Given the description of an element on the screen output the (x, y) to click on. 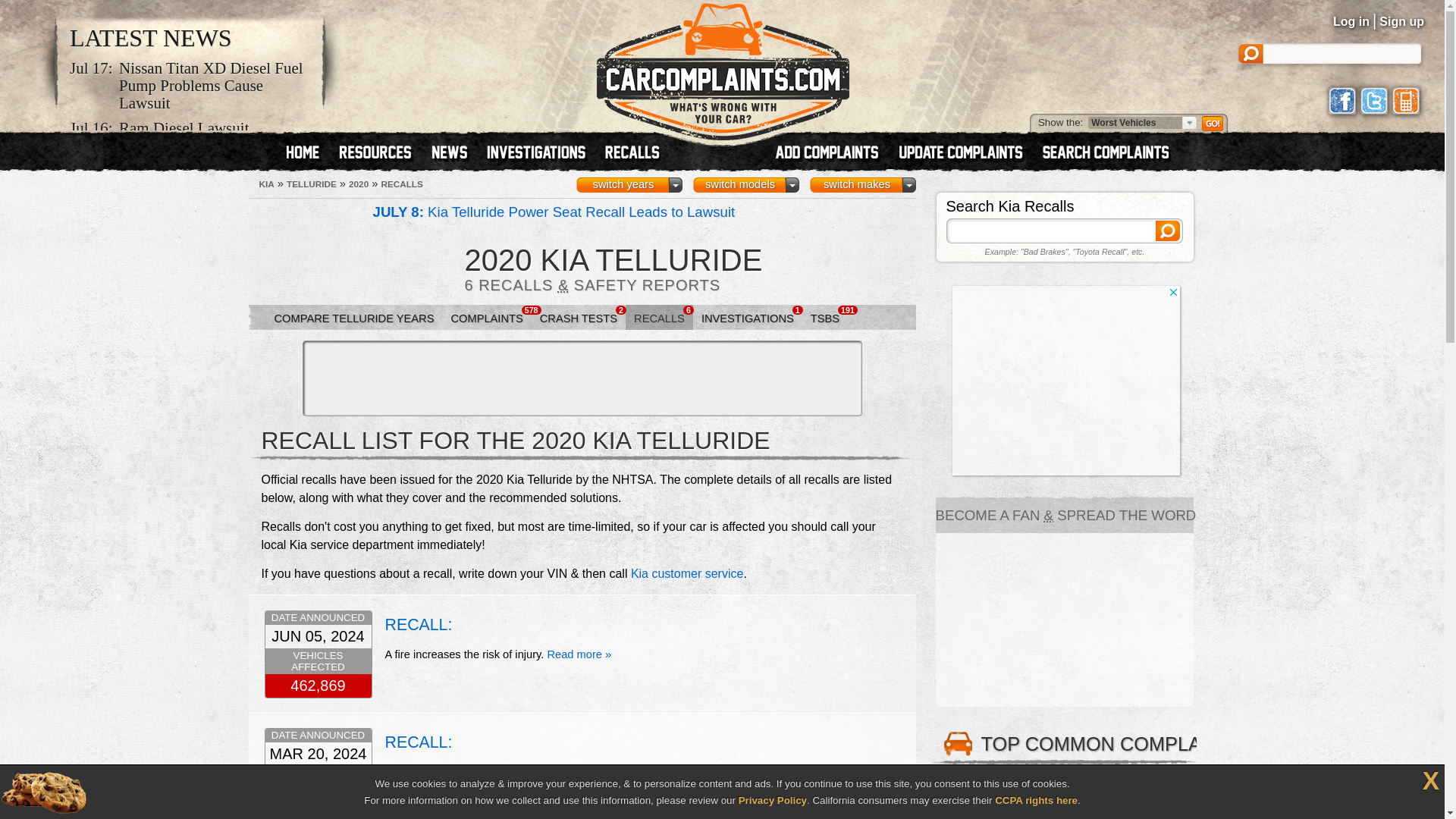
Sign up (1400, 21)
car problem resources (381, 153)
car recalls (633, 153)
LATEST NEWS (150, 37)
Nissan Titan XD Diesel Fuel Pump Problems Cause Lawsuit (216, 85)
KIA (267, 184)
search car problems (1111, 153)
Car Complaint and Recall News (150, 37)
Go (1213, 123)
TELLURIDE (311, 184)
Log in (1351, 21)
Ram Diesel Lawsuit Settlement (216, 136)
update car complaints (966, 153)
add car complaints (833, 153)
RECALLS (401, 184)
